Given the description of an element on the screen output the (x, y) to click on. 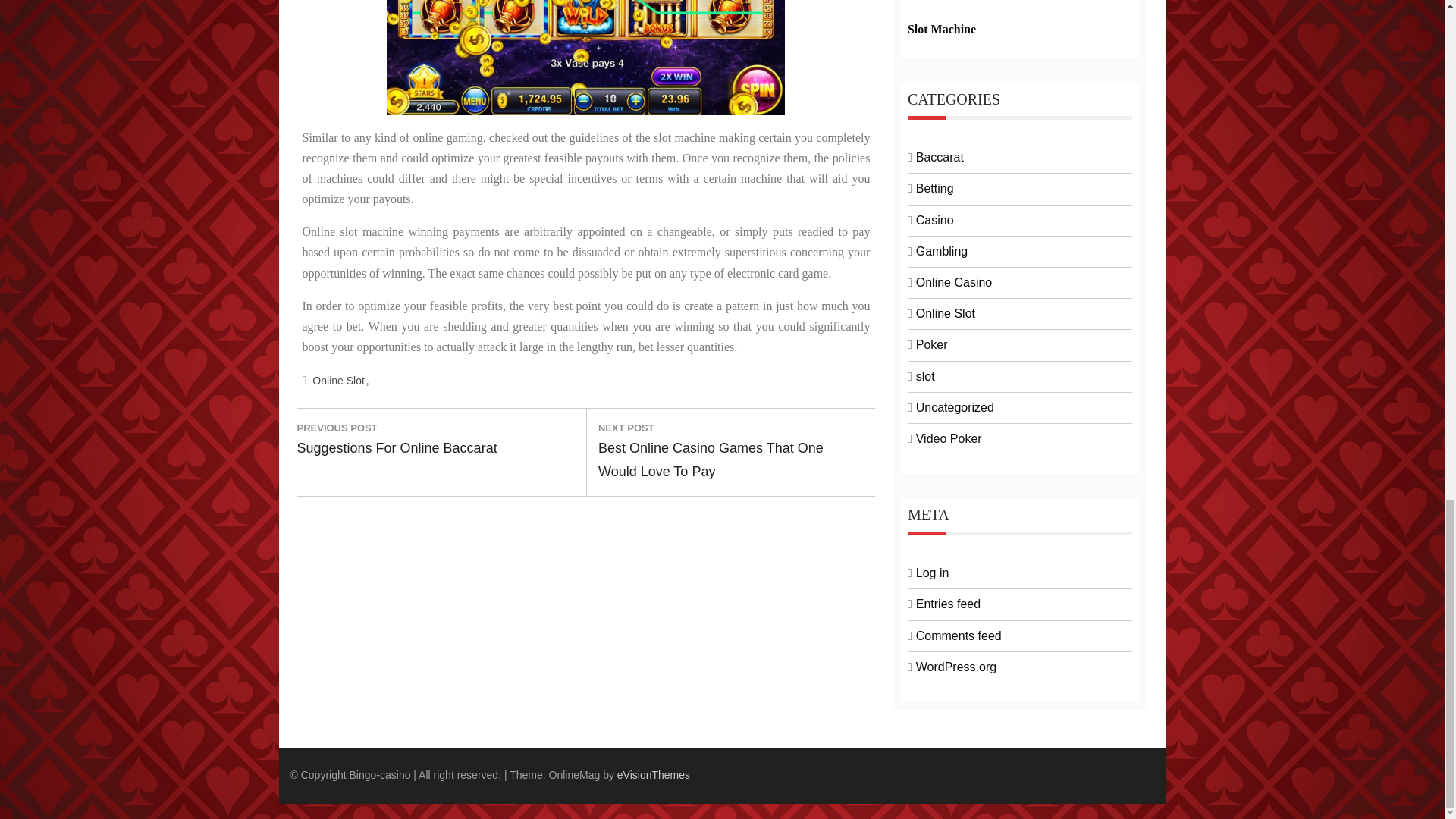
Online Slot (339, 381)
